Given the description of an element on the screen output the (x, y) to click on. 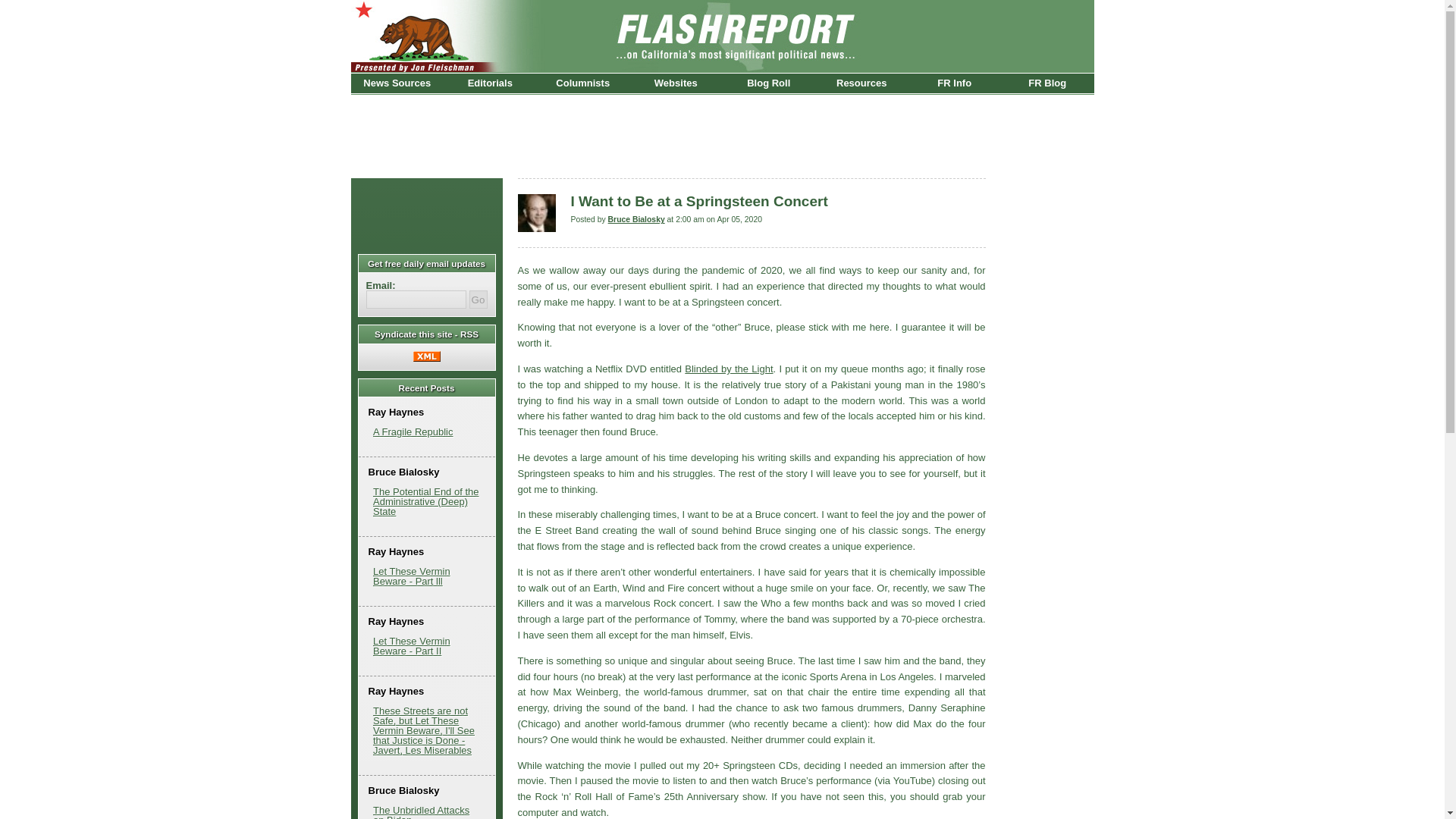
Posts by Bruce Bialosky (636, 219)
